Given the description of an element on the screen output the (x, y) to click on. 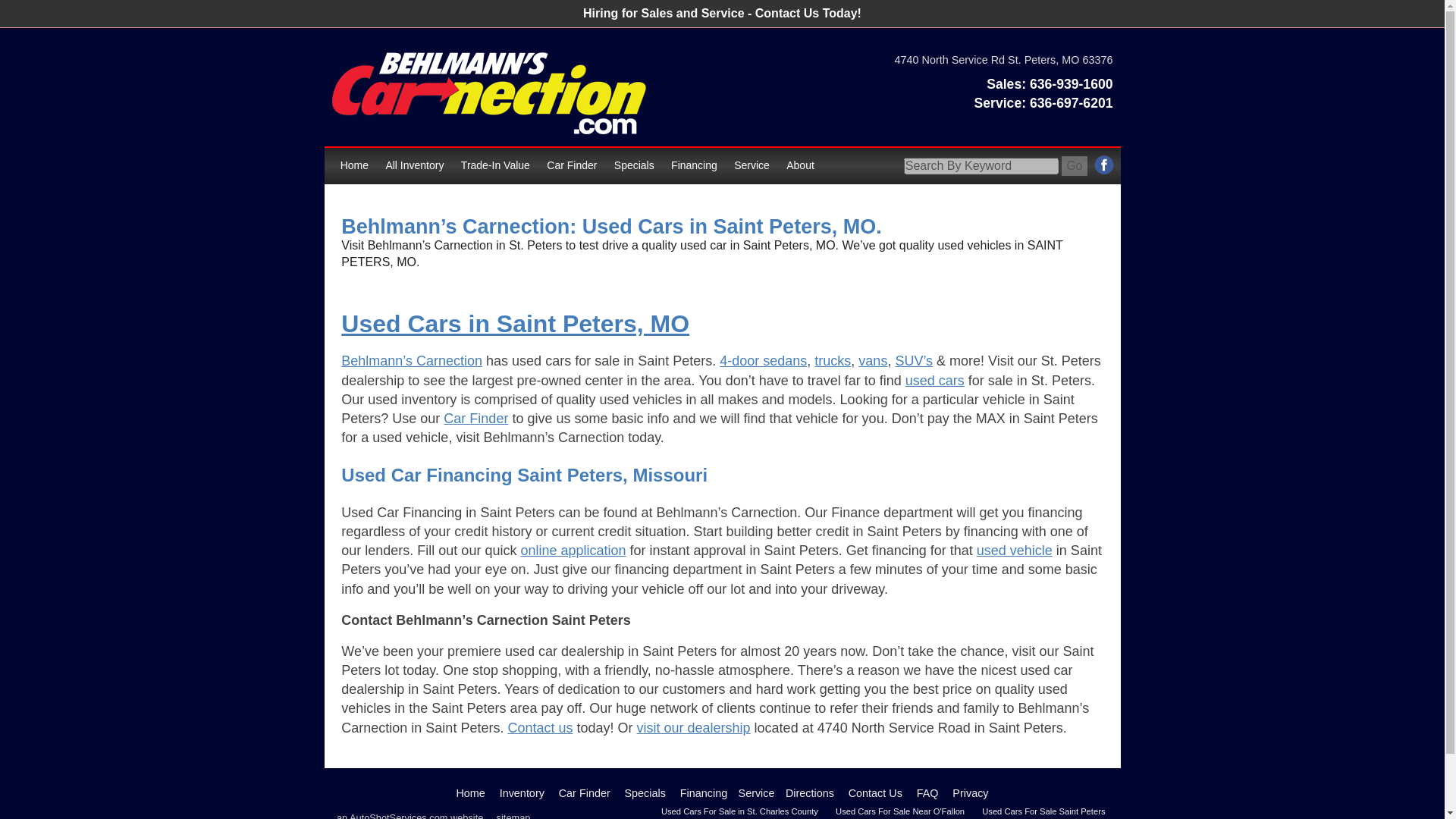
used cars (934, 380)
Car Finder (584, 793)
All Inventory (414, 166)
Home (354, 166)
trucks (831, 360)
used vehicle (1014, 549)
About (799, 166)
Go (1073, 166)
visit our dealership (694, 727)
Home (469, 793)
Go (1073, 166)
online application (572, 549)
4-door sedans (762, 360)
Search By Keyword (981, 166)
Service (751, 166)
